Given the description of an element on the screen output the (x, y) to click on. 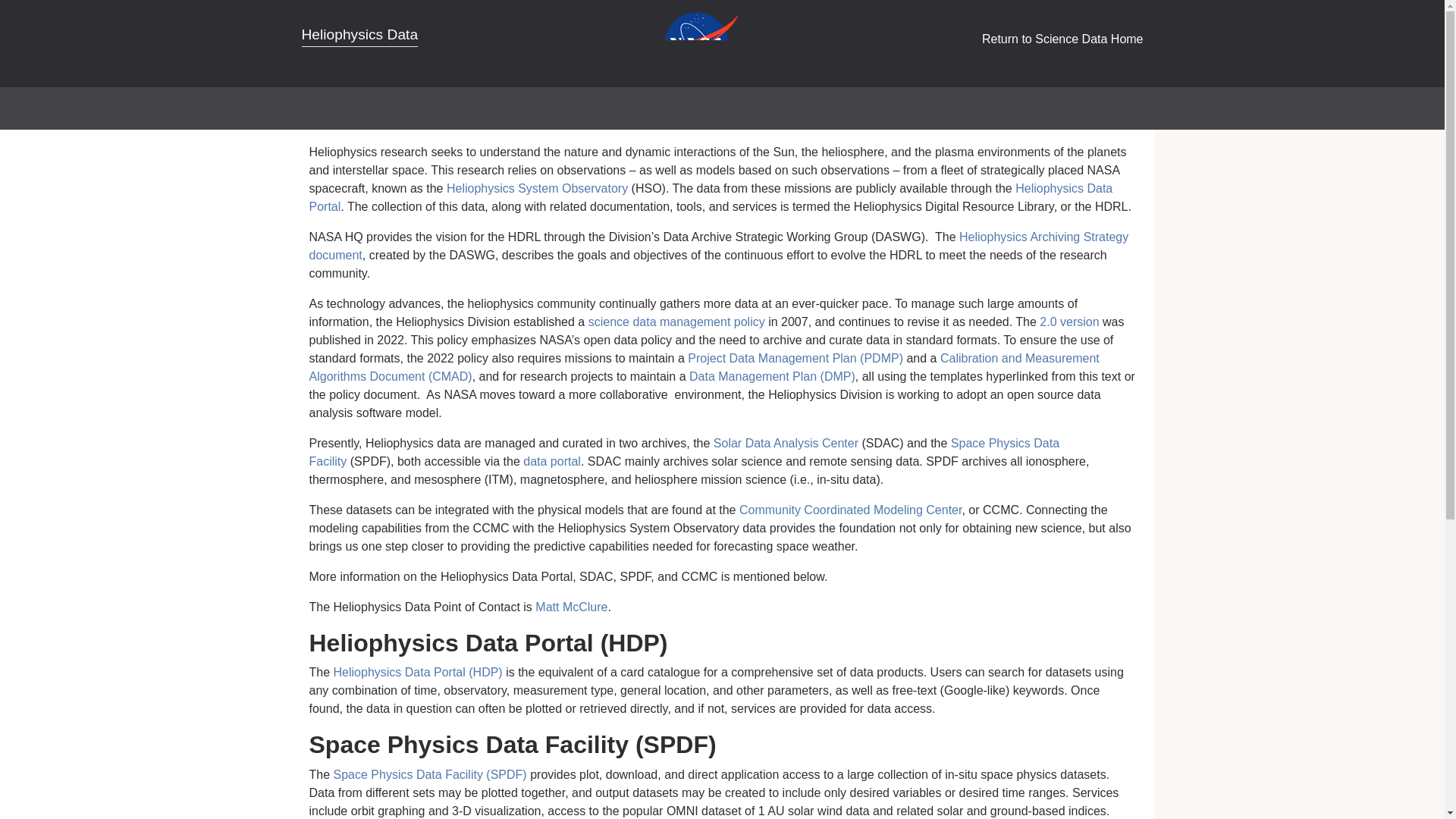
data portal (551, 461)
Solar Data Analysis Center (786, 442)
Community Coordinated Modeling Center (849, 509)
Matt McClure (571, 606)
Heliophysics System Observatory (536, 187)
Return to Science Data Home (1061, 38)
Heliophysics Data Portal (710, 196)
Heliophysics Archiving Strategy document (718, 245)
Heliophysics Data (360, 36)
Space Physics Data Facility (683, 451)
